Given the description of an element on the screen output the (x, y) to click on. 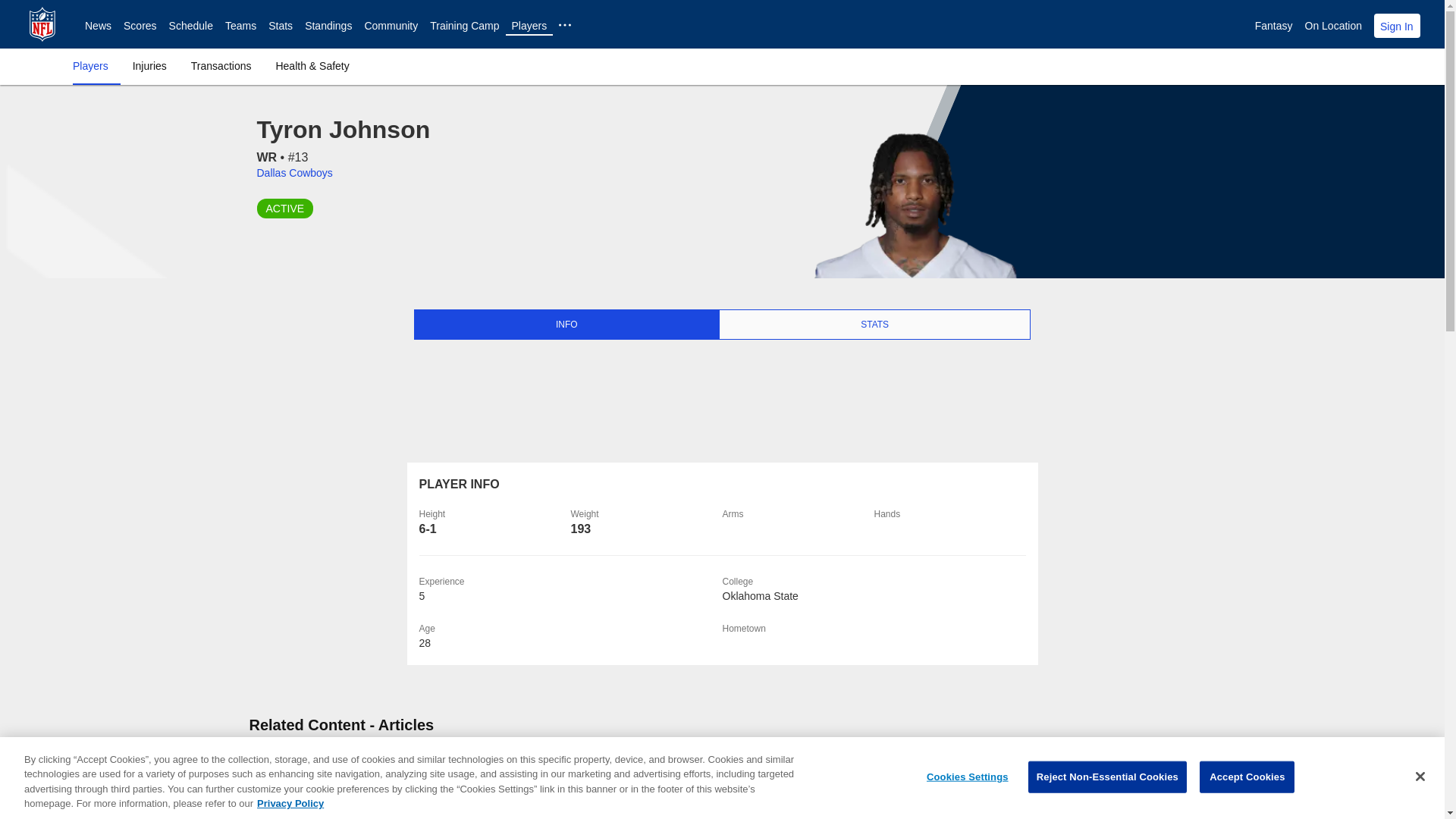
Scores (140, 25)
Teams (240, 25)
Stats (279, 25)
News (98, 25)
Scores (140, 25)
Teams (240, 25)
News (98, 25)
Schedule (190, 25)
Link to NFL homepage (42, 23)
Schedule (190, 25)
